Given the description of an element on the screen output the (x, y) to click on. 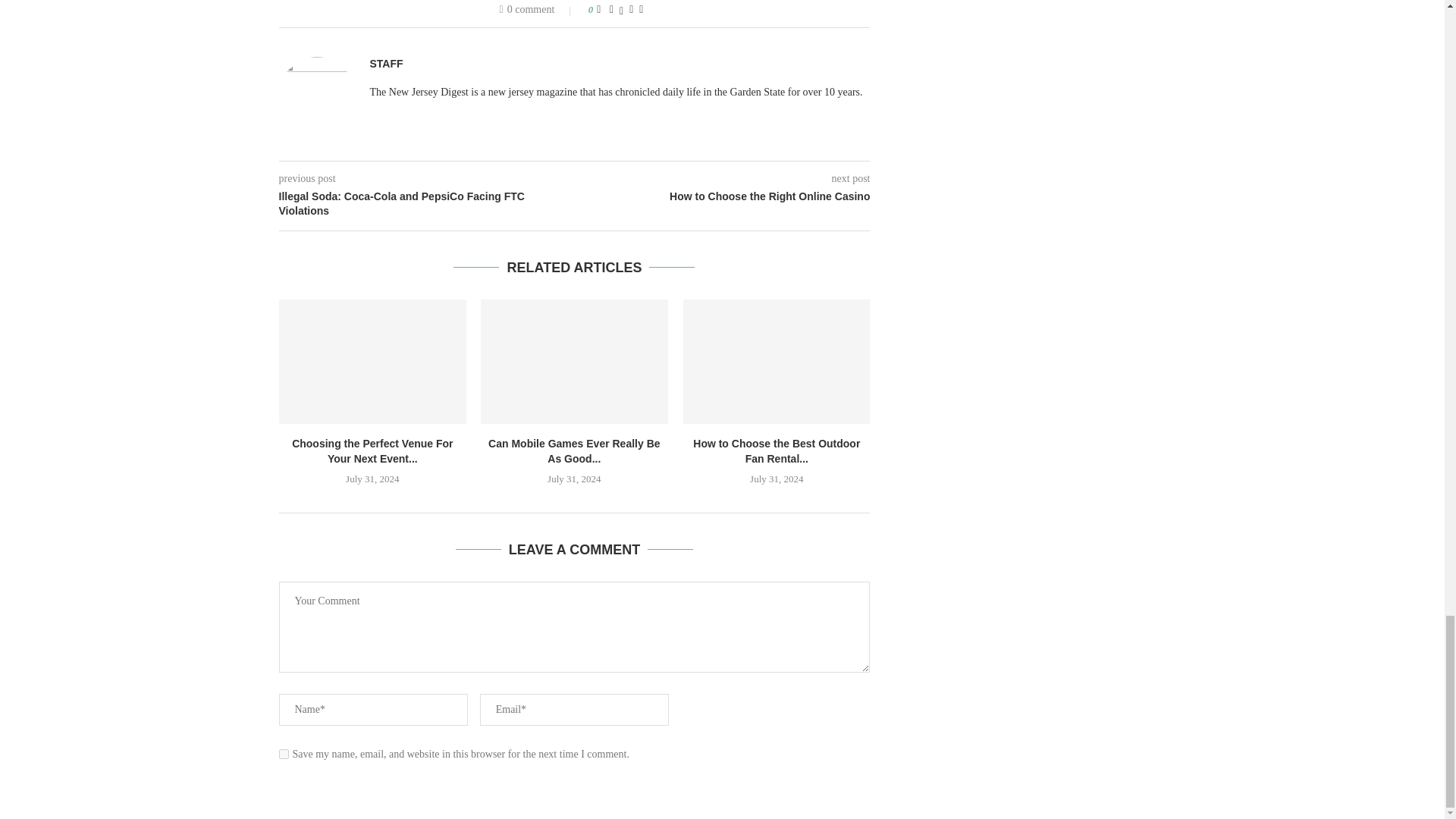
Choosing the Perfect Venue For Your Next Event in Chicago (372, 361)
yes (283, 754)
Author Staff (386, 63)
Can Mobile Games Ever Really Be As Good As Video Games? (574, 361)
How to Choose the Best Outdoor Fan Rental for Your Event (776, 361)
